Given the description of an element on the screen output the (x, y) to click on. 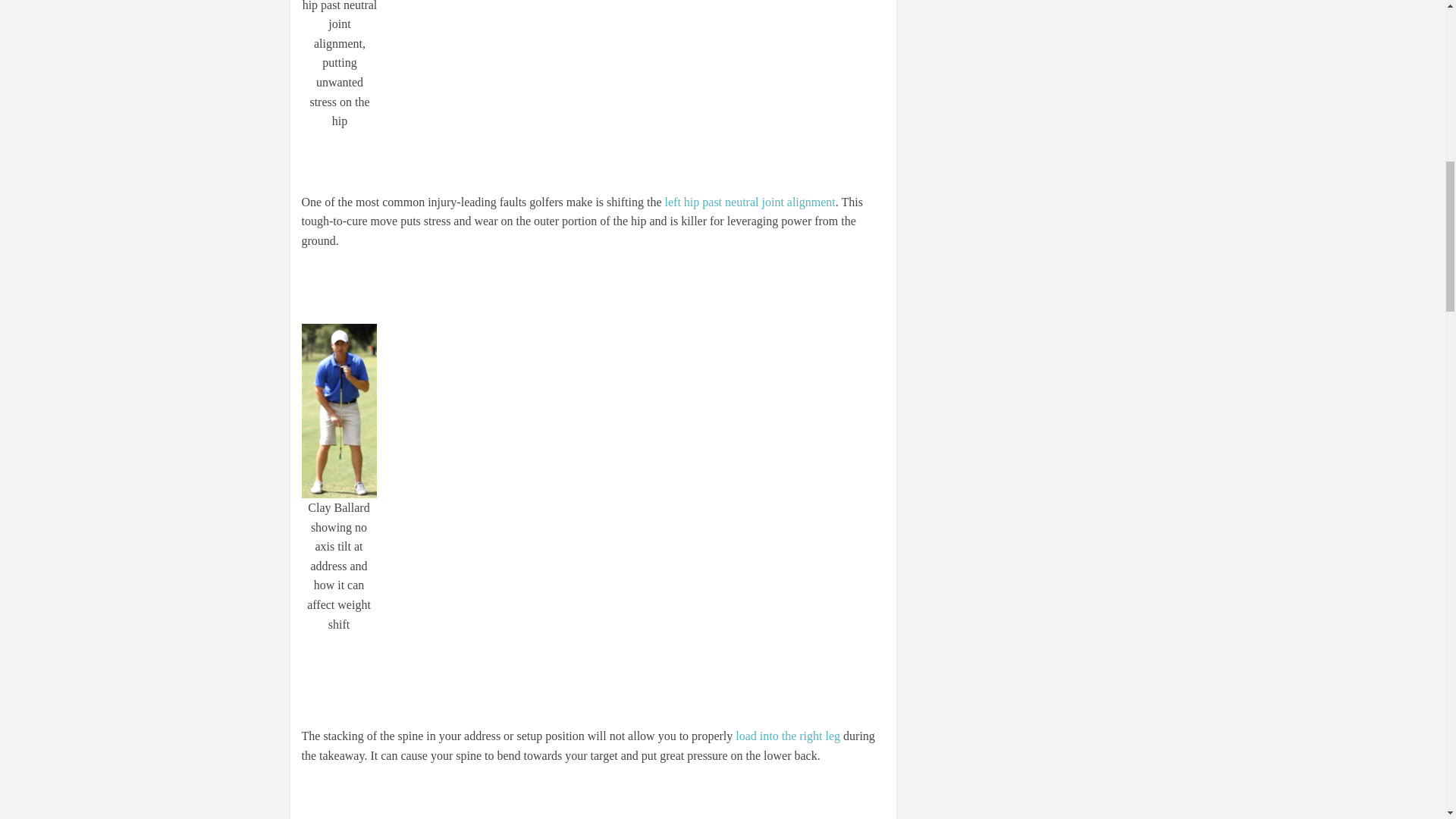
load into the right leg (787, 735)
 left hip past neutral  (711, 201)
joint alignment (797, 201)
